Given the description of an element on the screen output the (x, y) to click on. 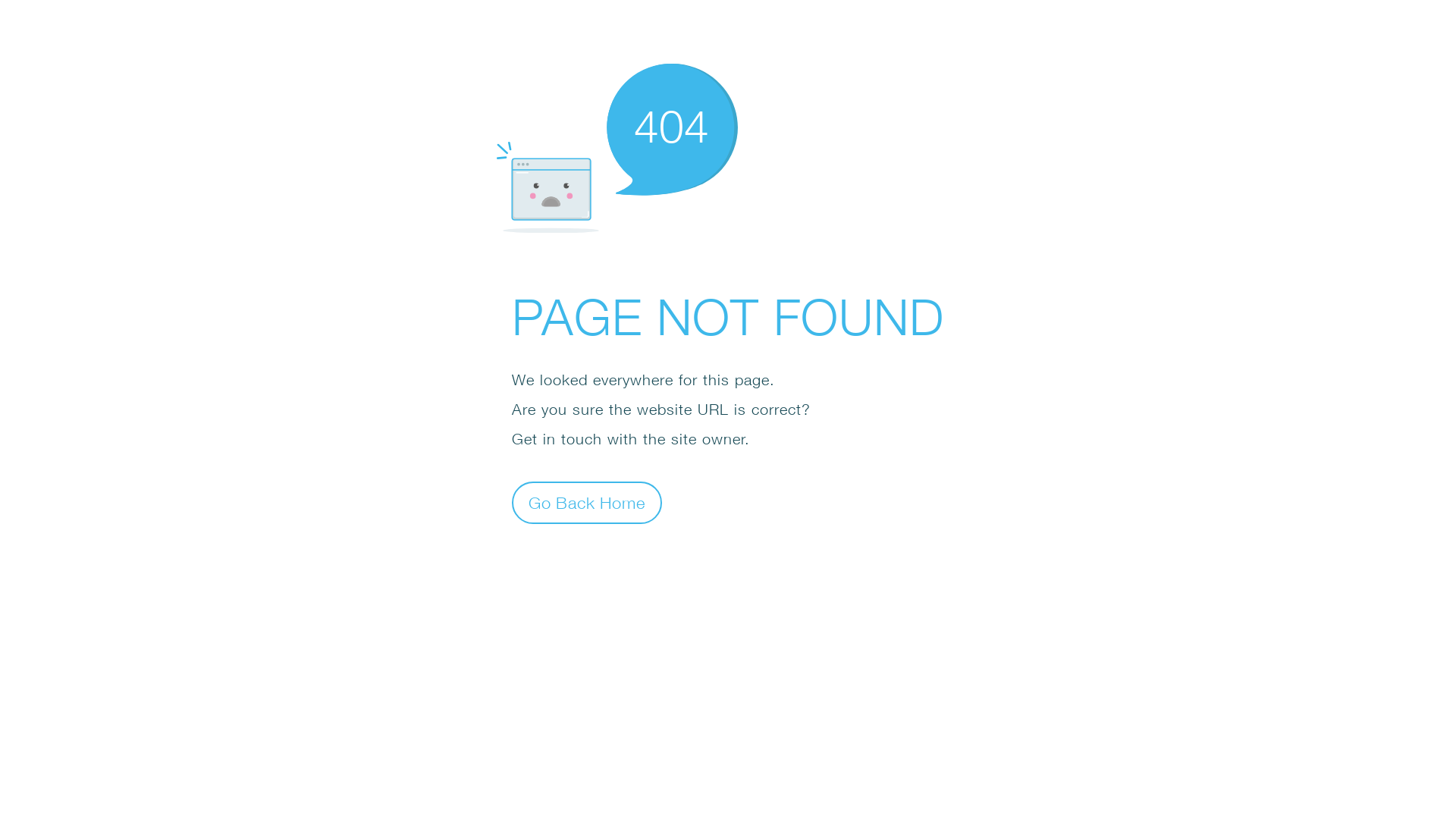
Go Back Home Element type: text (586, 502)
